Given the description of an element on the screen output the (x, y) to click on. 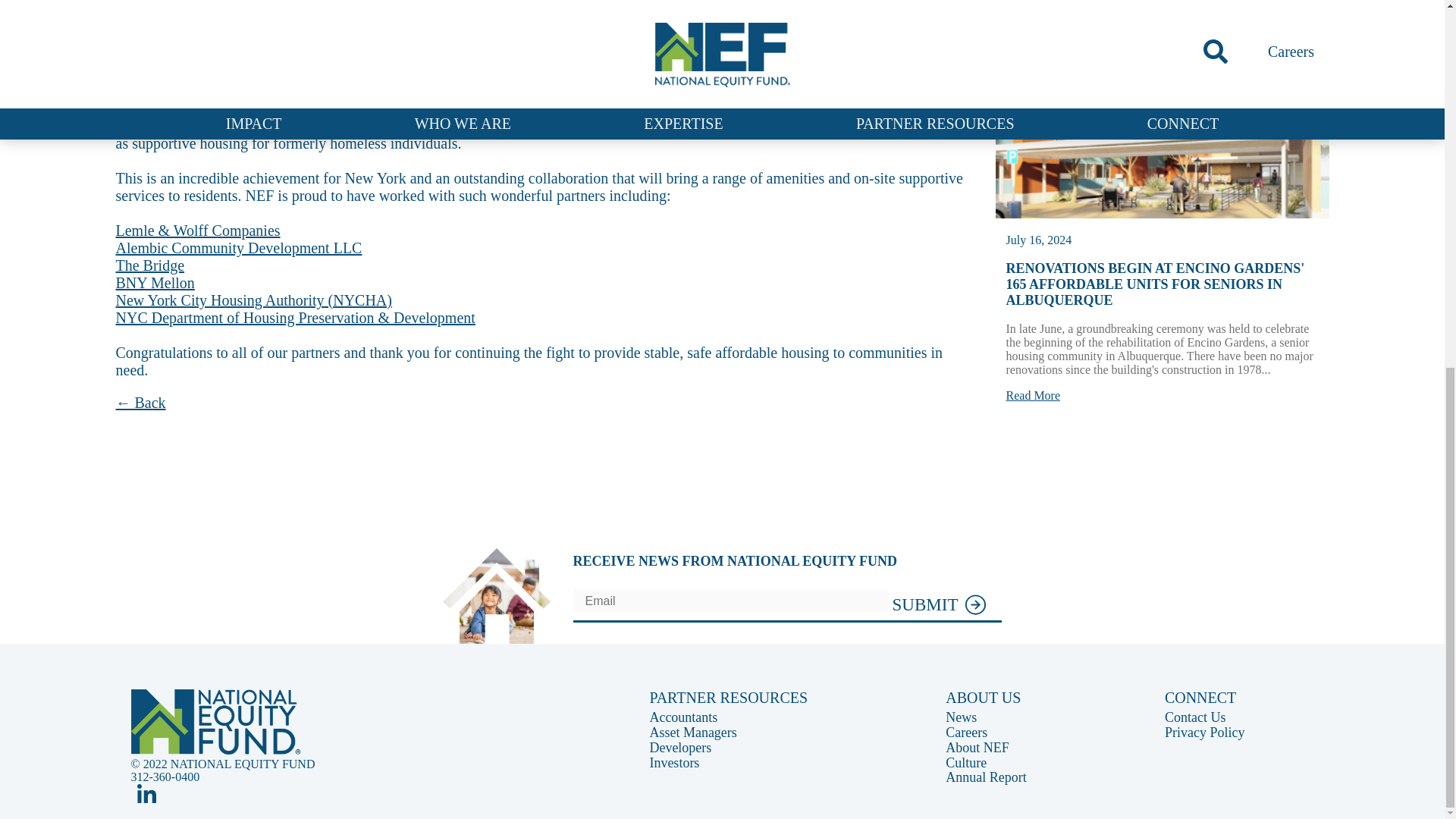
LinkedIn (145, 793)
Alembic Community Development LLC (238, 247)
The Bridge (149, 265)
BNY Mellon (154, 282)
